Given the description of an element on the screen output the (x, y) to click on. 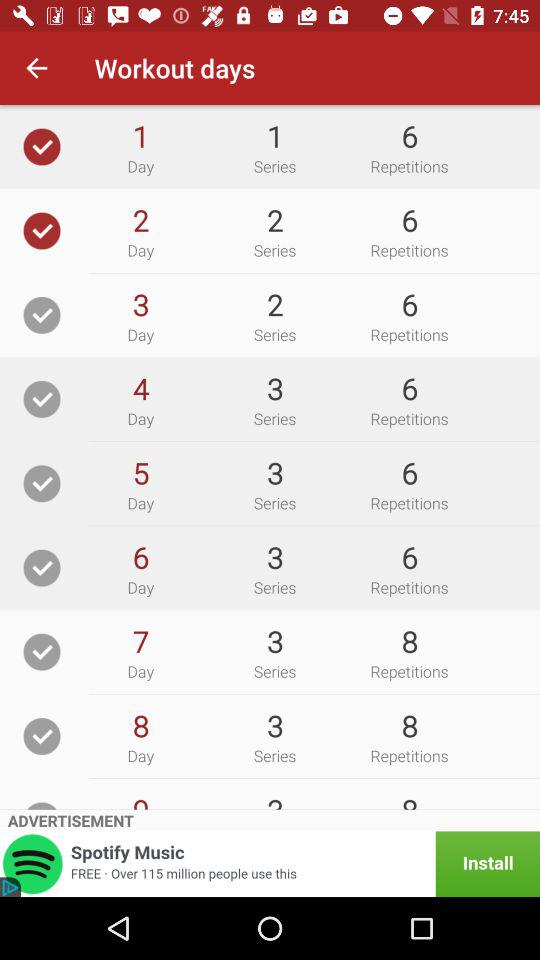
add day to current workout schedule (41, 146)
